Given the description of an element on the screen output the (x, y) to click on. 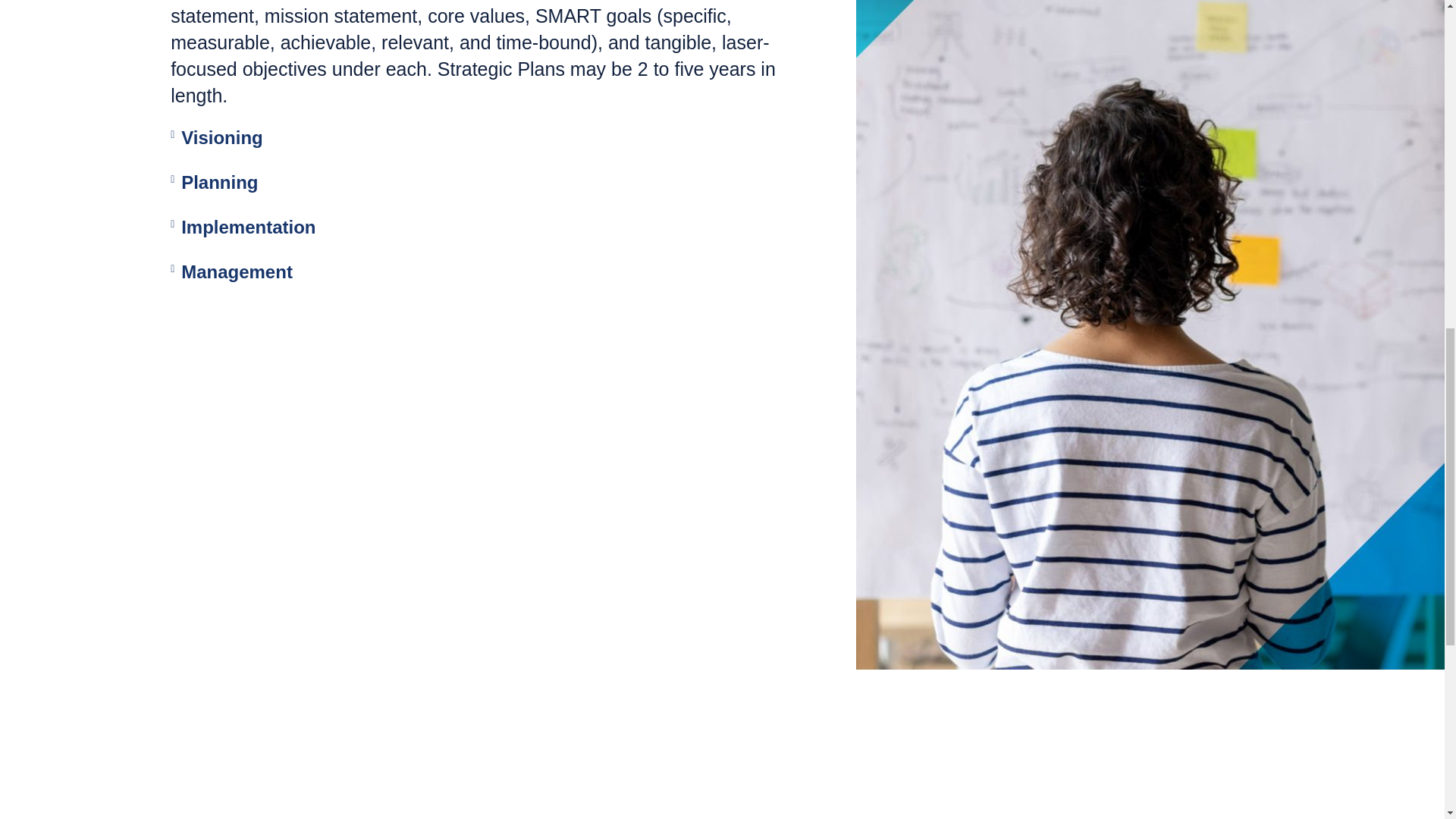
Planning (218, 181)
Management (236, 271)
Visioning (221, 137)
Implementation (247, 227)
